Given the description of an element on the screen output the (x, y) to click on. 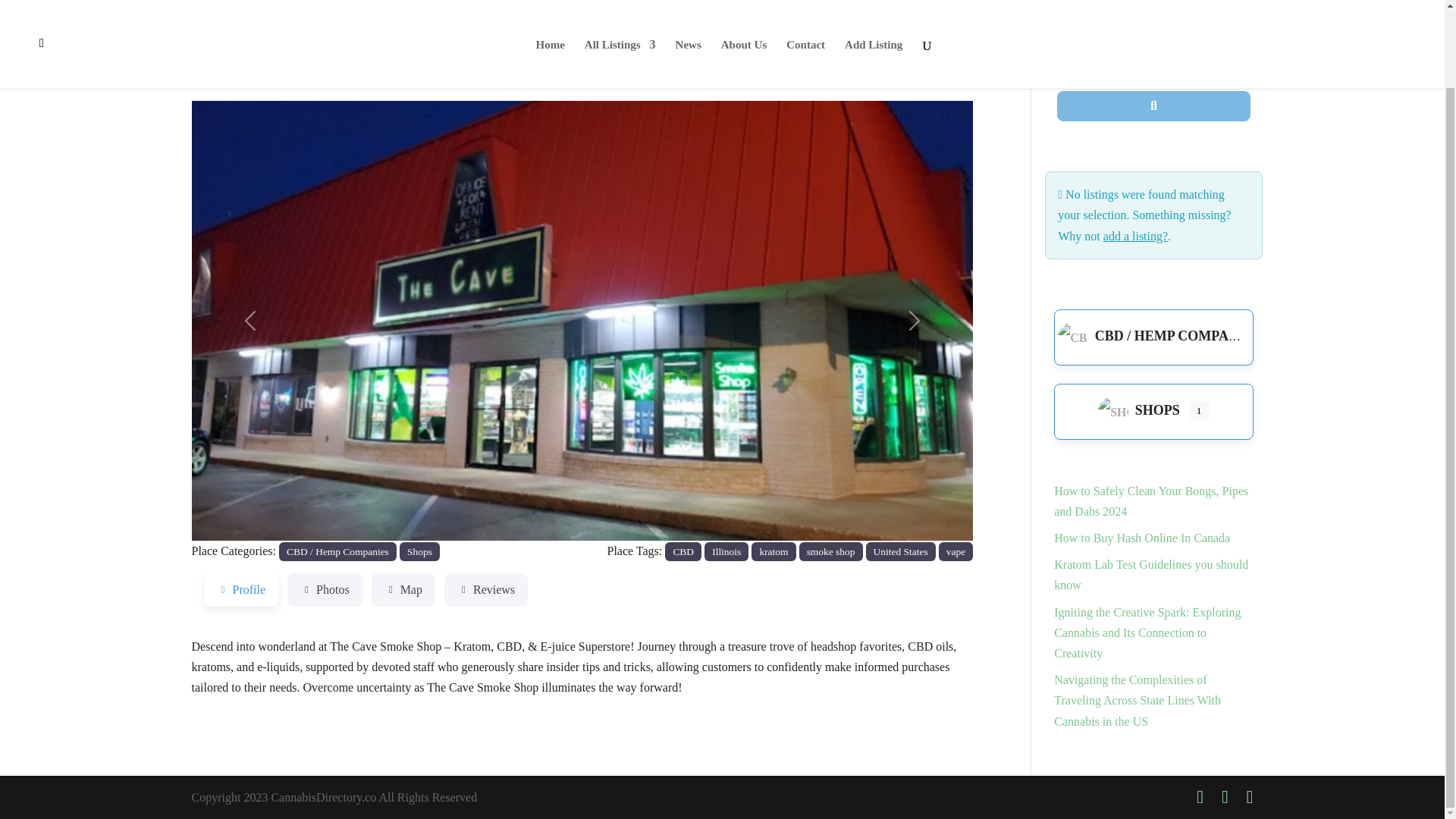
Illinois (726, 551)
Shops (418, 551)
CBD (683, 551)
smoke shop (831, 551)
add a listing? (1135, 236)
How to Buy Hash Online In Canada (1142, 537)
News (688, 0)
Contact (805, 0)
About Us (743, 0)
Reviews (485, 589)
